Given the description of an element on the screen output the (x, y) to click on. 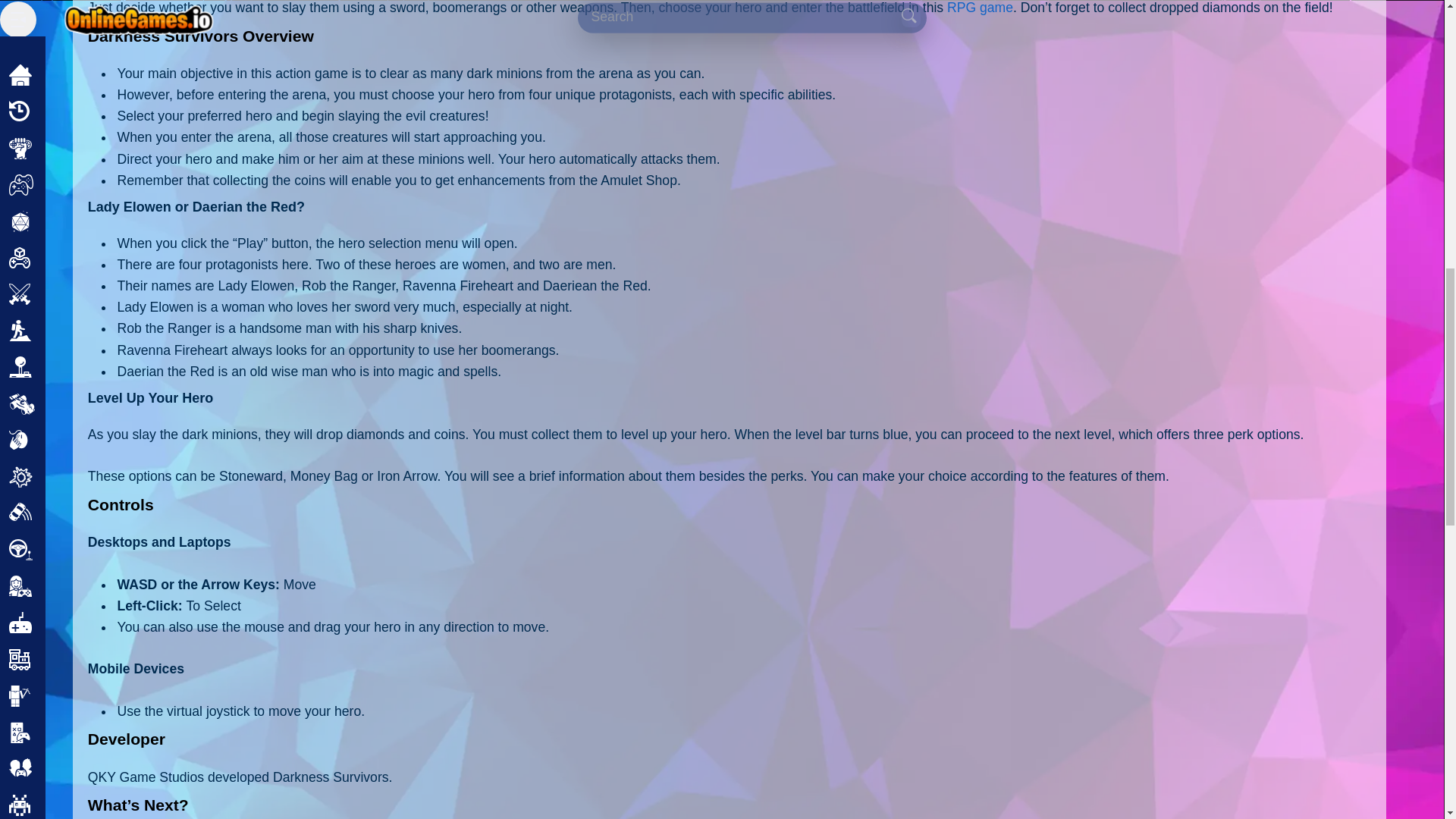
All Tags (68, 278)
Sports (64, 205)
Sniper (64, 168)
Shooting (70, 94)
Puzzle (65, 22)
Strategy (70, 241)
RPG game (980, 7)
Simulator (73, 132)
Random (70, 314)
Racing (65, 58)
Pixel (59, 2)
